Given the description of an element on the screen output the (x, y) to click on. 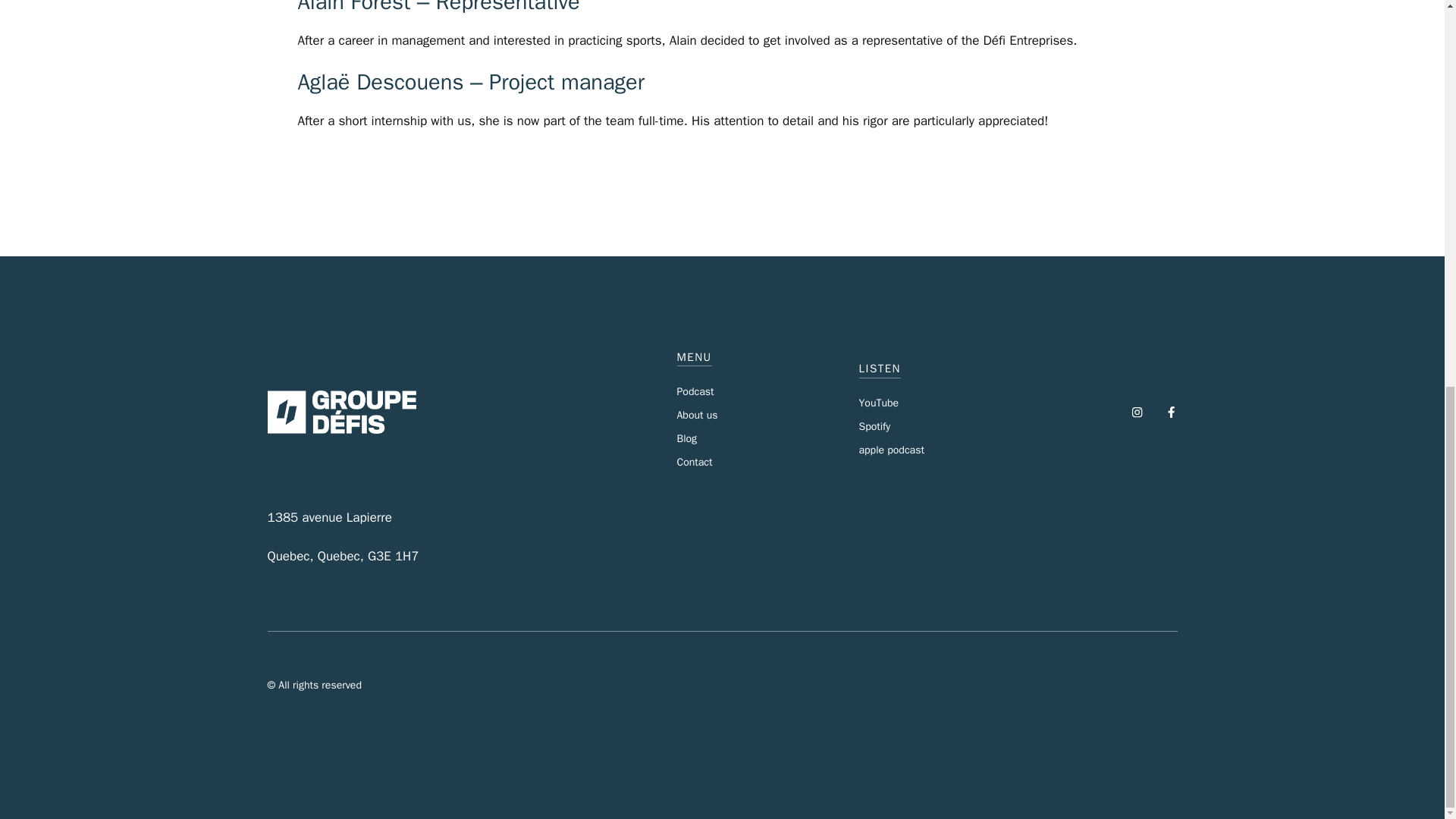
Blog (687, 438)
Spotify (874, 426)
About us (697, 414)
Contact (694, 461)
Podcast (695, 391)
YouTube (878, 402)
